Given the description of an element on the screen output the (x, y) to click on. 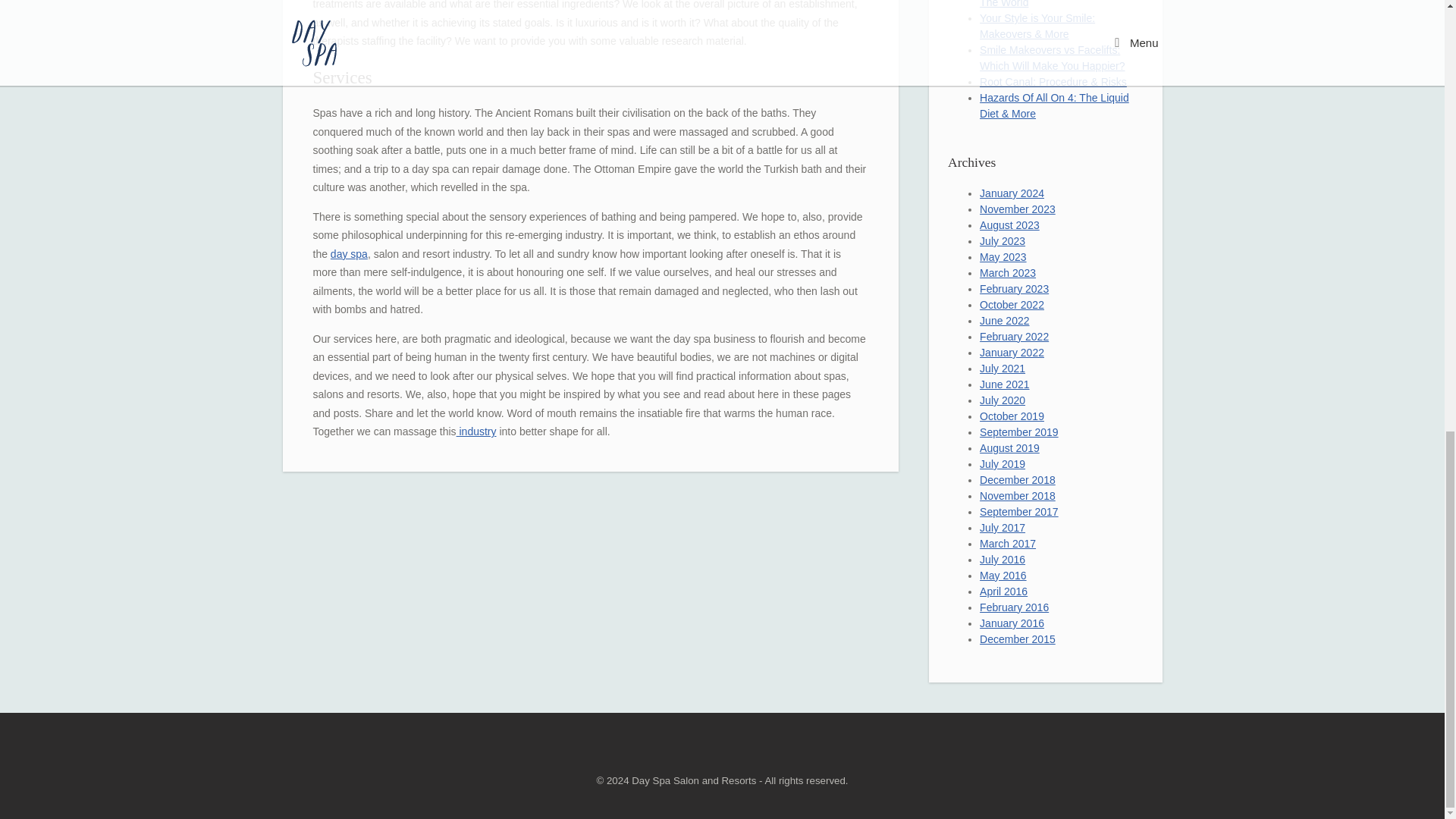
September 2019 (1018, 431)
August 2019 (1009, 448)
September 2017 (1018, 511)
July 2023 (1002, 241)
October 2022 (1011, 304)
May 2016 (1002, 575)
May 2023 (1002, 256)
November 2023 (1017, 209)
Smile Makeovers vs Facelifts: Which Will Make You Happier? (1051, 58)
July 2016 (1002, 559)
